Given the description of an element on the screen output the (x, y) to click on. 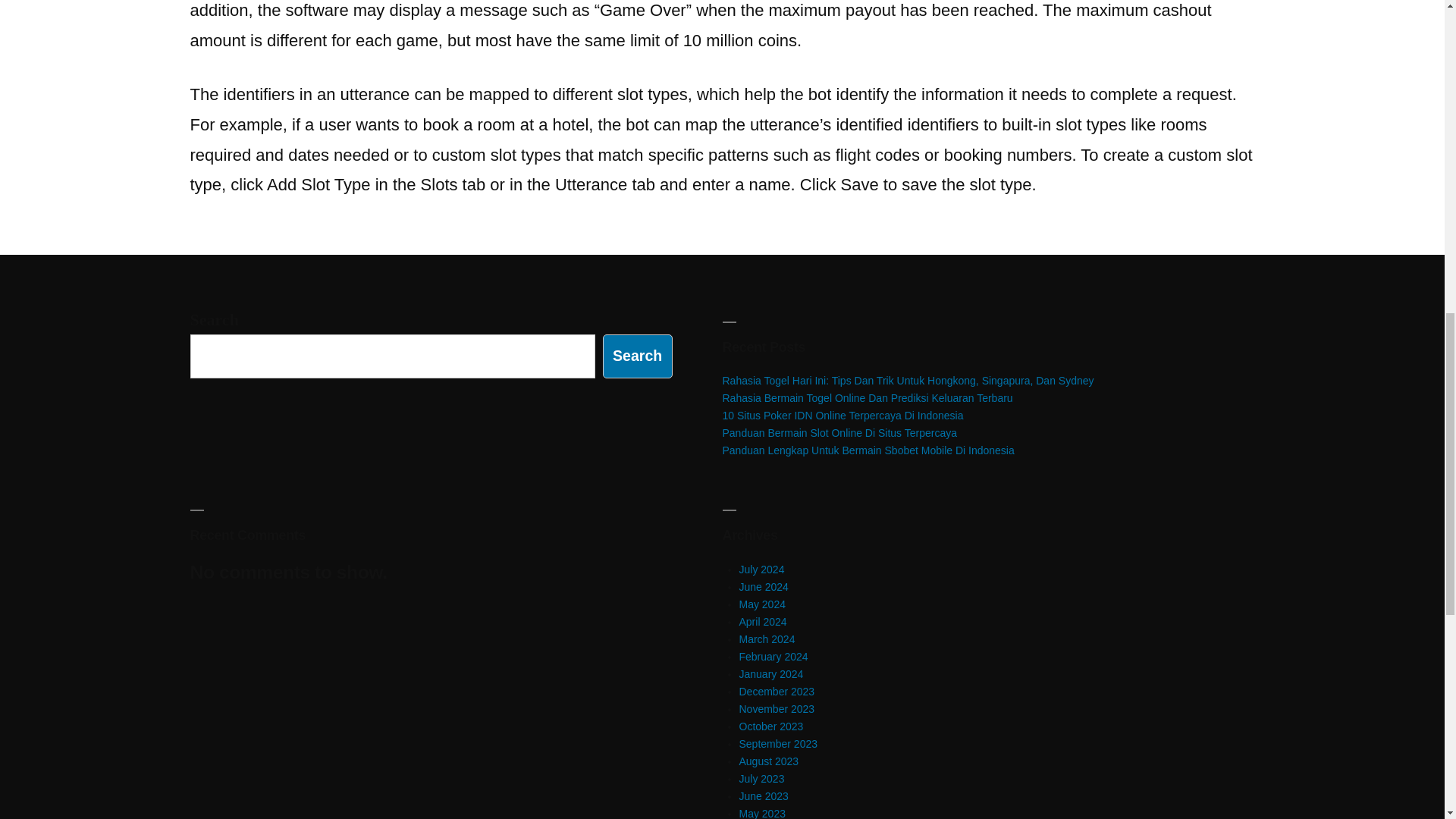
July 2023 (761, 778)
June 2023 (762, 796)
July 2024 (761, 569)
June 2024 (762, 586)
Panduan Lengkap Untuk Bermain Sbobet Mobile Di Indonesia (867, 450)
Rahasia Bermain Togel Online Dan Prediksi Keluaran Terbaru (866, 398)
November 2023 (775, 708)
October 2023 (770, 726)
January 2024 (770, 674)
Panduan Bermain Slot Online Di Situs Terpercaya (839, 432)
August 2023 (767, 761)
Search (637, 355)
September 2023 (777, 743)
December 2023 (775, 691)
